Given the description of an element on the screen output the (x, y) to click on. 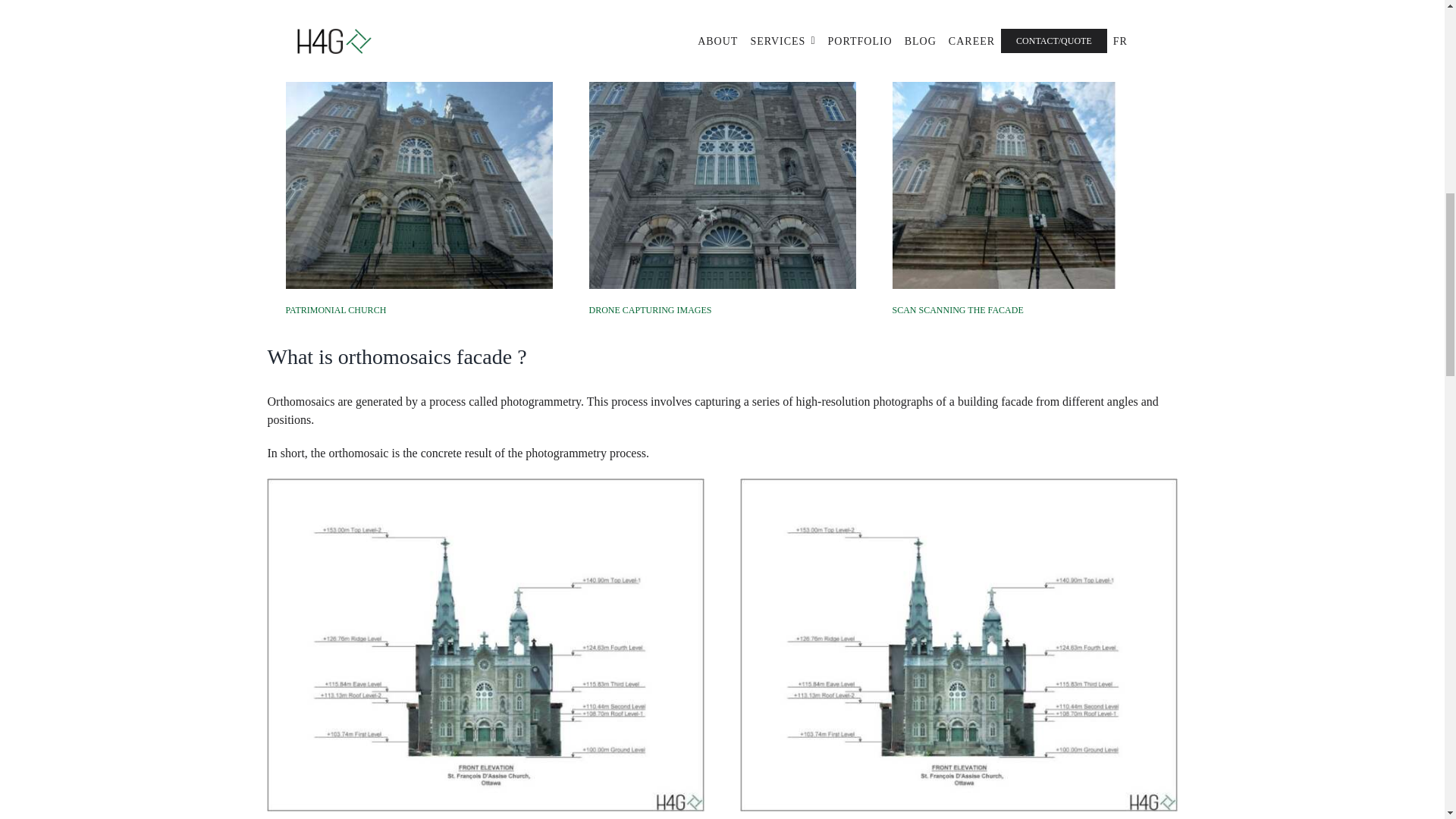
6 (1024, 155)
